Given the description of an element on the screen output the (x, y) to click on. 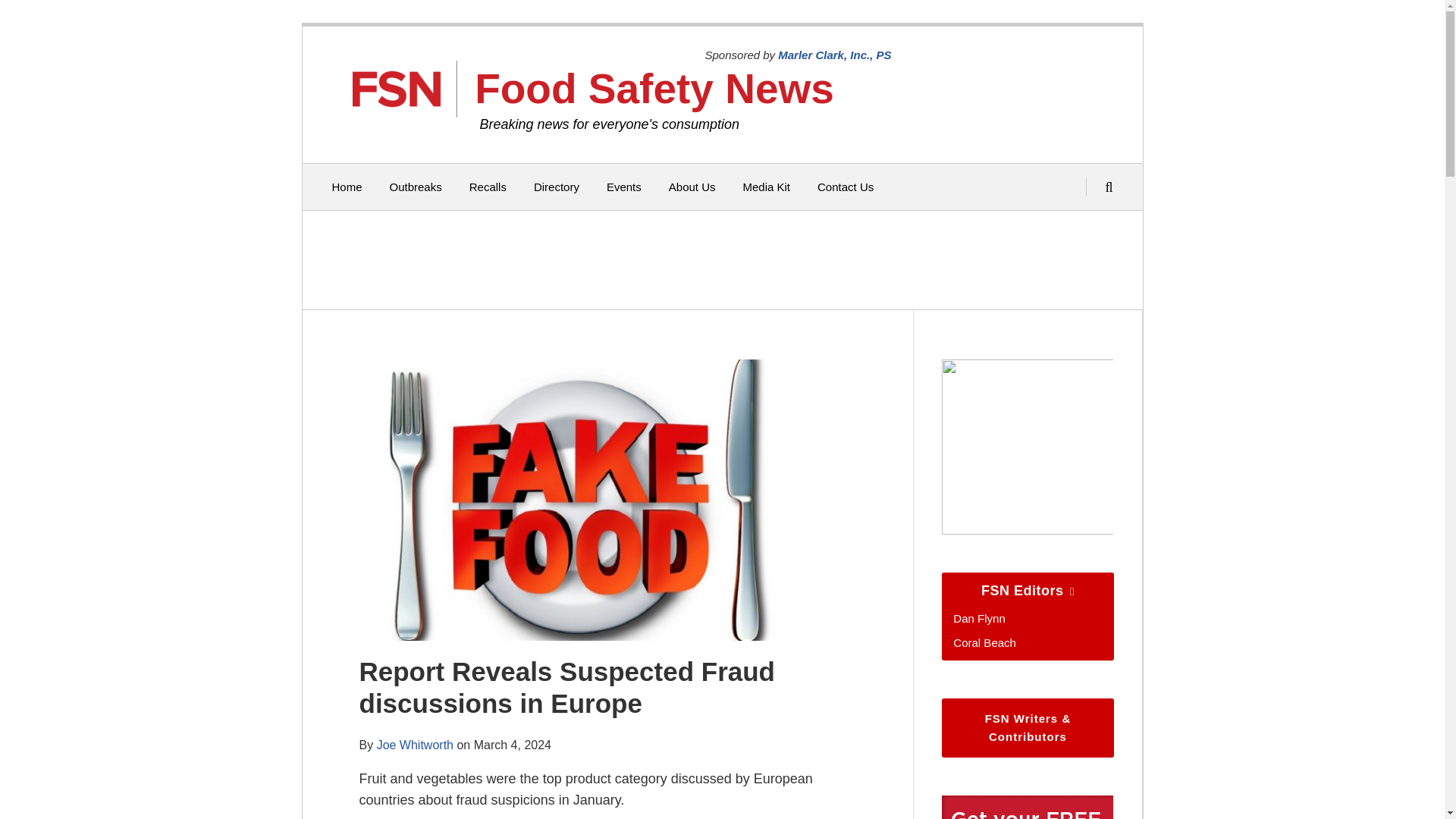
Dan Flynn (978, 617)
Advertisement (718, 260)
Marler Clark, Inc., PS (834, 54)
Contact Us (844, 187)
Recalls (487, 187)
Media Kit (766, 187)
Events (624, 187)
Coral Beach (984, 642)
Food Safety News (654, 88)
Outbreaks (416, 187)
